Given the description of an element on the screen output the (x, y) to click on. 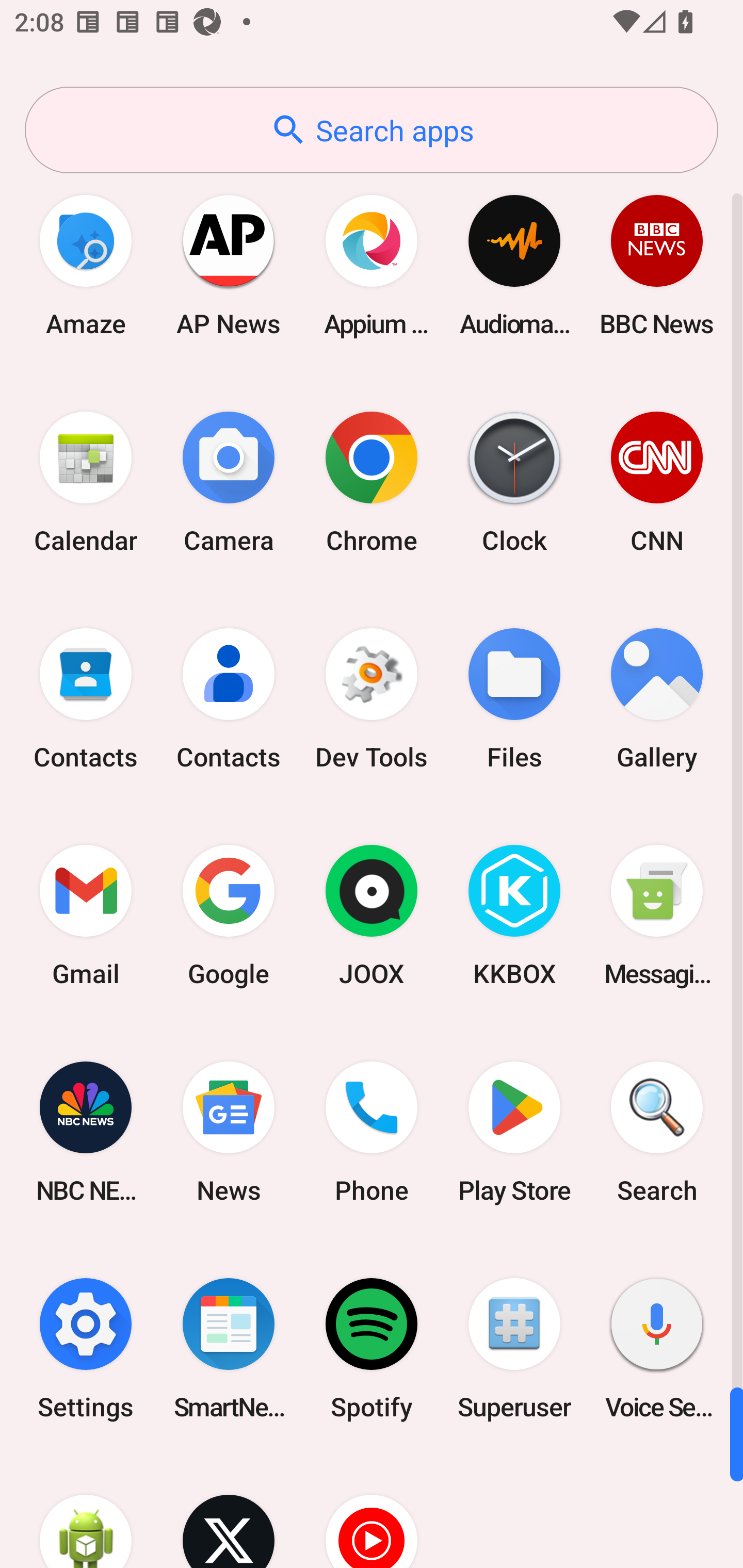
  Search apps (371, 130)
Amaze (85, 264)
AP News (228, 264)
Appium Settings (371, 264)
Audio­mack (514, 264)
BBC News (656, 264)
Calendar (85, 482)
Camera (228, 482)
Chrome (371, 482)
Clock (514, 482)
CNN (656, 482)
Contacts (85, 699)
Contacts (228, 699)
Dev Tools (371, 699)
Files (514, 699)
Gallery (656, 699)
Gmail (85, 915)
Google (228, 915)
JOOX (371, 915)
KKBOX (514, 915)
Messaging (656, 915)
NBC NEWS (85, 1131)
News (228, 1131)
Phone (371, 1131)
Play Store (514, 1131)
Search (656, 1131)
Settings (85, 1348)
SmartNews (228, 1348)
Spotify (371, 1348)
Superuser (514, 1348)
Voice Search (656, 1348)
WebView Browser Tester (85, 1512)
X (228, 1512)
YT Music (371, 1512)
